Given the description of an element on the screen output the (x, y) to click on. 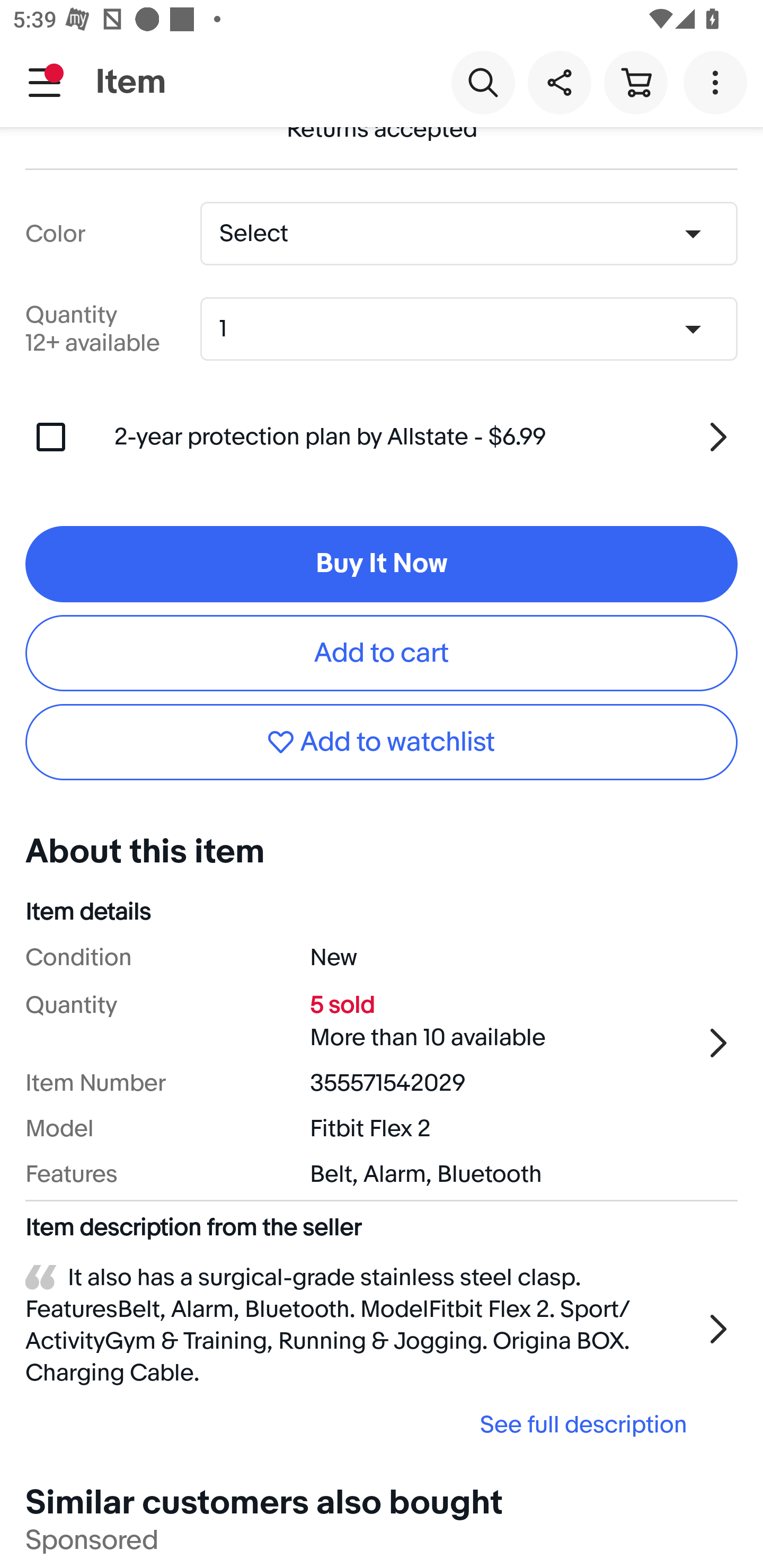
Main navigation, notification is pending, open (44, 82)
Search (482, 81)
Share this item (559, 81)
Cart button shopping cart (635, 81)
More options (718, 81)
Color,No selection Select (468, 233)
Quantity,1,12+ available 1 (474, 329)
2-year protection plan by Allstate - $6.99 (425, 437)
Buy It Now (381, 563)
Add to cart (381, 652)
Add to watchlist (381, 742)
See full description (362, 1424)
